Given the description of an element on the screen output the (x, y) to click on. 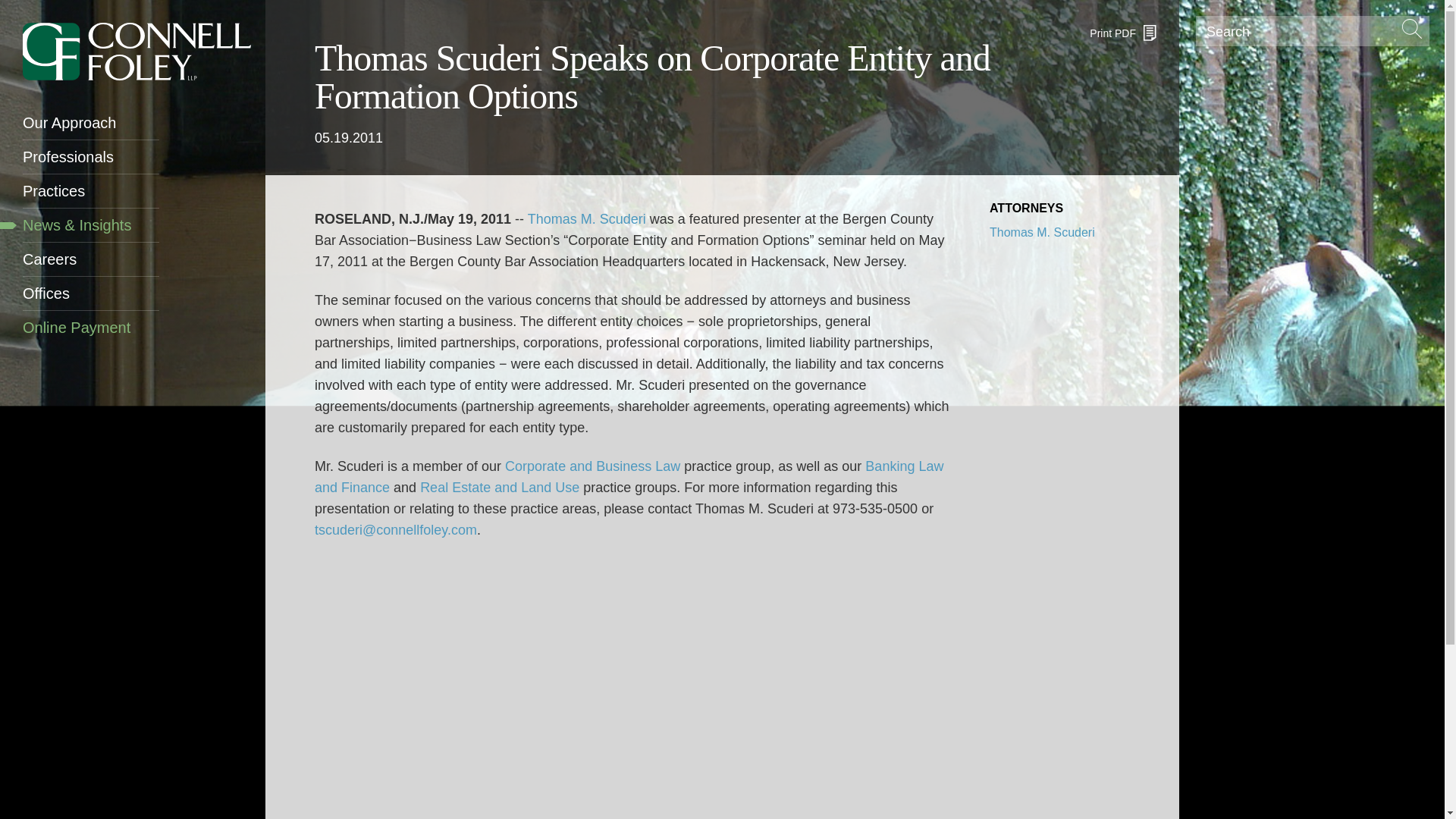
Print PDF (1122, 33)
Corporate and Business Law (592, 466)
Thomas M. Scuderi (1042, 232)
Professionals (90, 156)
Thomas M. Scuderi (586, 218)
Banking Law and Finance (628, 476)
Our Approach (90, 122)
Real Estate and Land Use (499, 487)
